Given the description of an element on the screen output the (x, y) to click on. 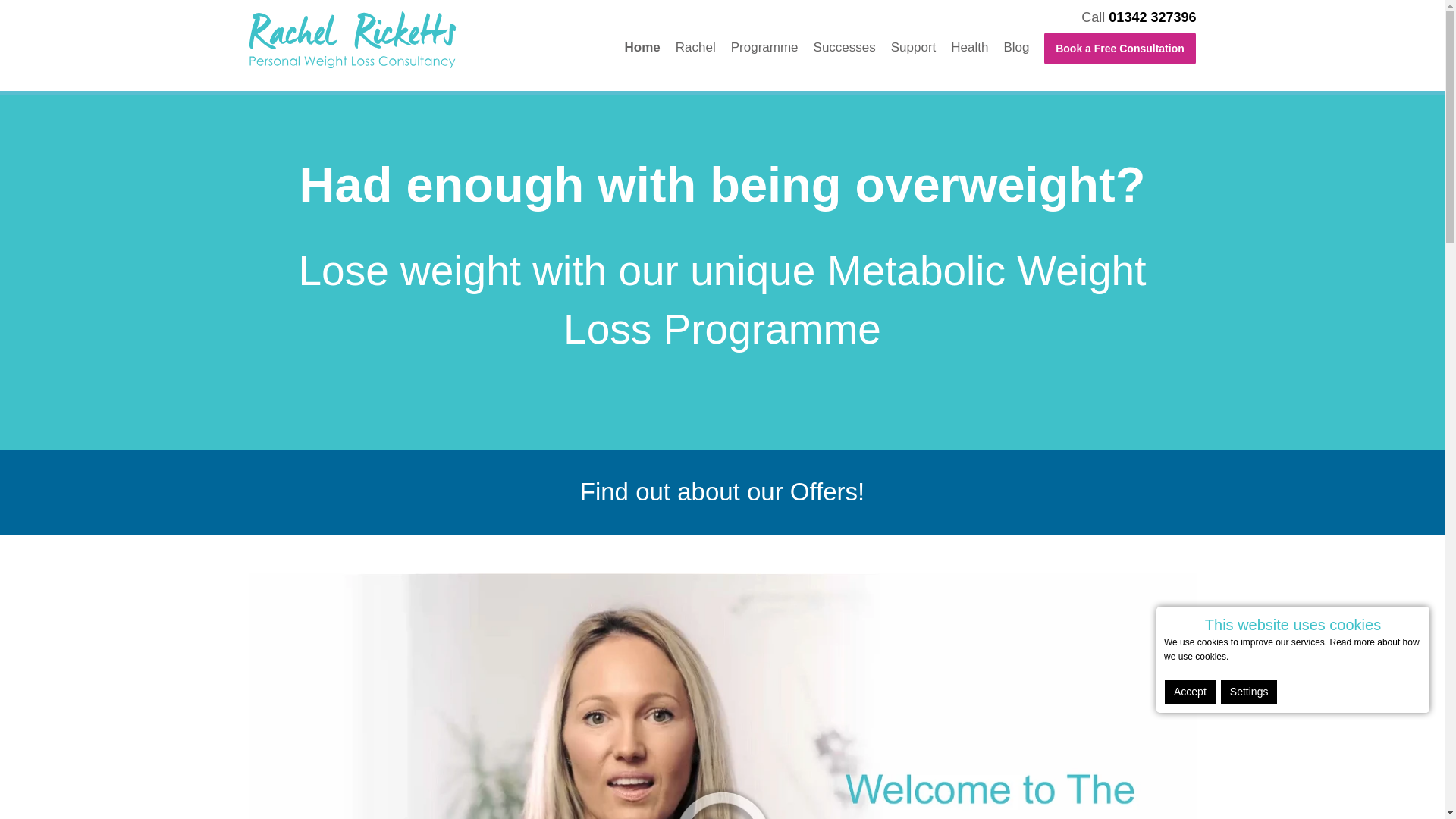
01342 327396 (1151, 17)
Support (921, 47)
Successes (852, 47)
Rachel (702, 47)
Rachel Ricketts Weight Loss Programme (406, 39)
Home (649, 47)
Programme (771, 47)
Blog (1023, 47)
Book a Free Consultation (1119, 48)
Health (976, 47)
